Given the description of an element on the screen output the (x, y) to click on. 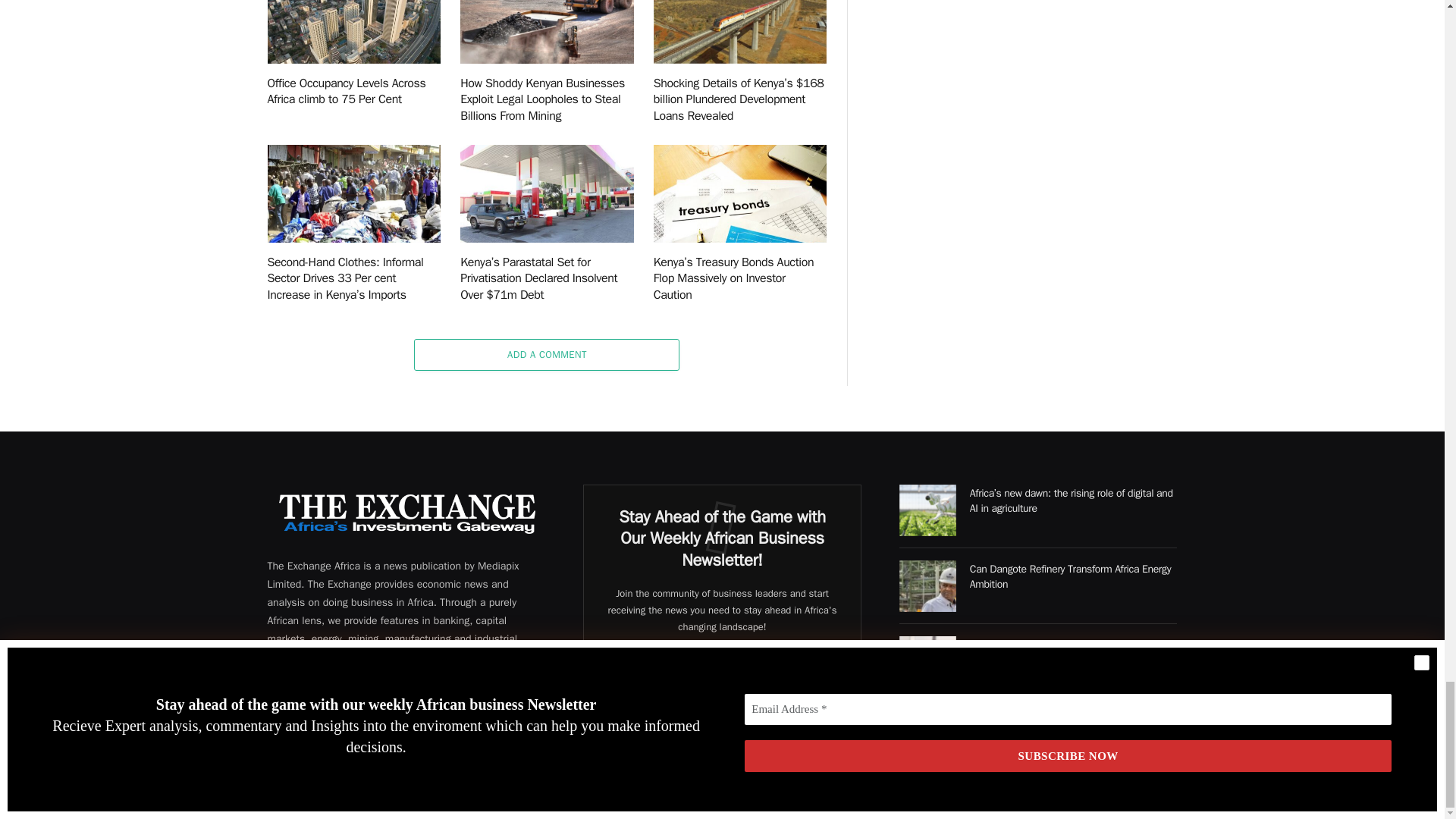
on (624, 747)
Subscribe (721, 710)
